Given the description of an element on the screen output the (x, y) to click on. 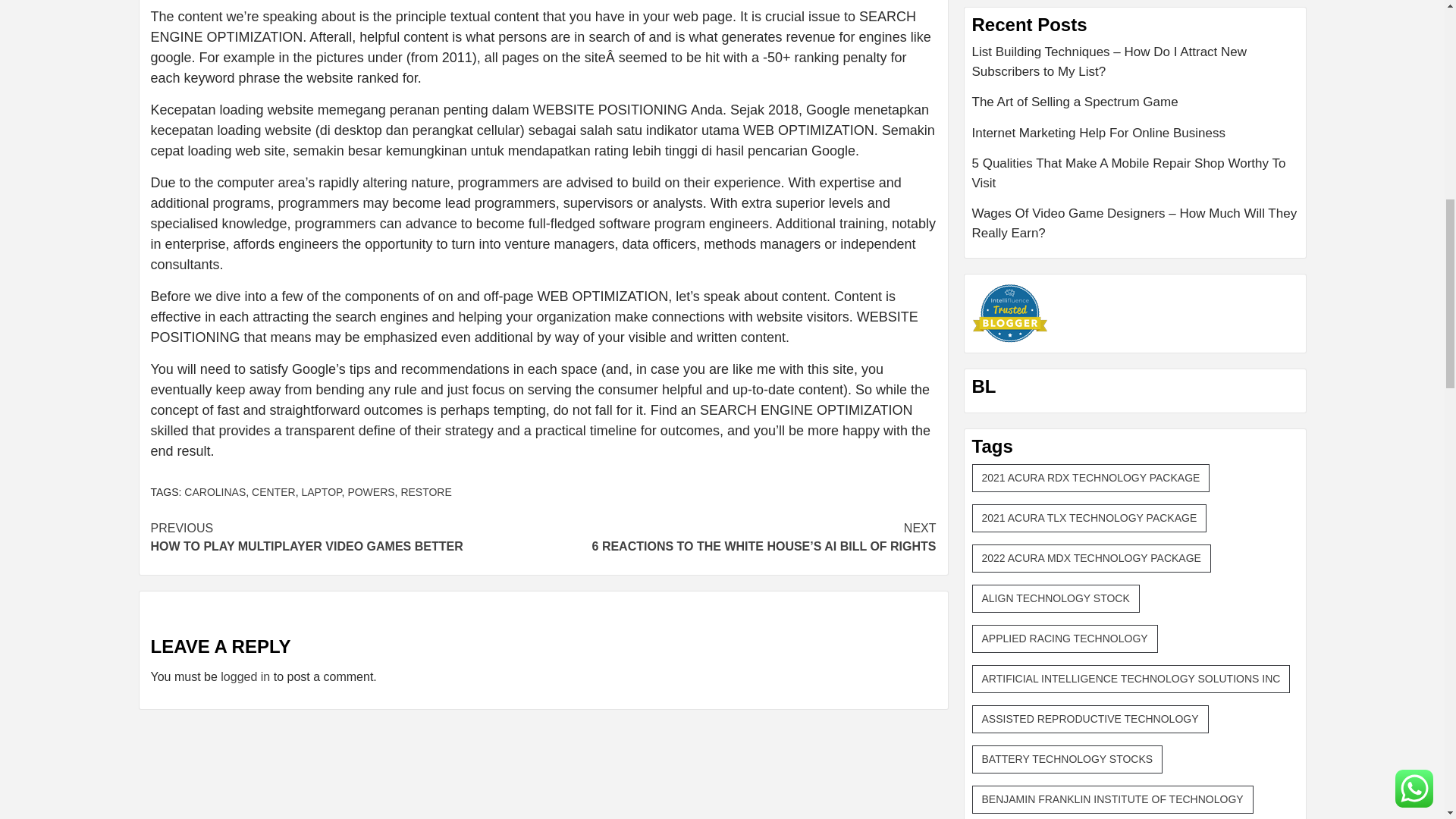
POWERS (370, 491)
CENTER (273, 491)
RESTORE (425, 491)
logged in (346, 537)
CAROLINAS (245, 676)
LAPTOP (215, 491)
